Given the description of an element on the screen output the (x, y) to click on. 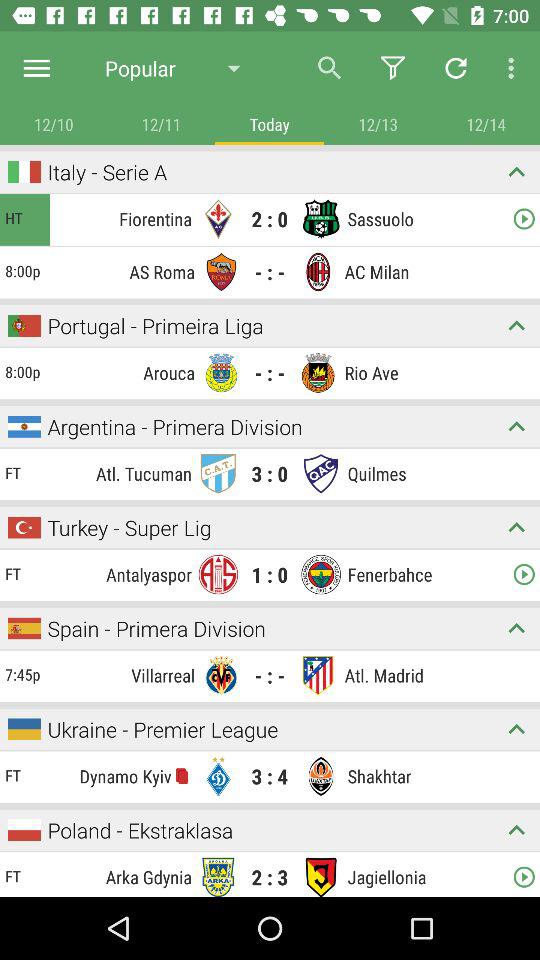
collapse match details (516, 426)
